Given the description of an element on the screen output the (x, y) to click on. 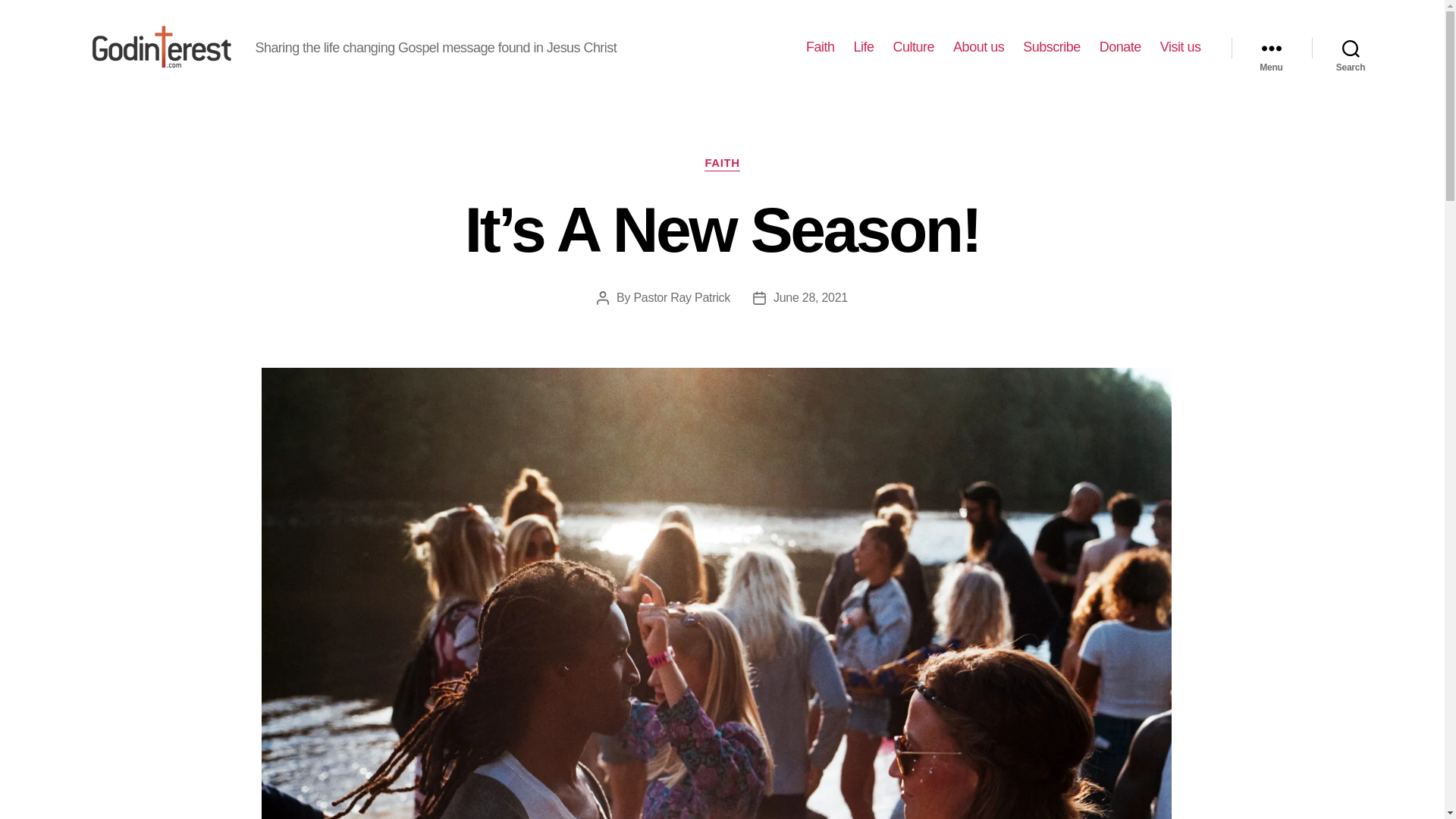
Faith (820, 47)
Donate (1120, 47)
Culture (913, 47)
Life (864, 47)
Search (1350, 47)
Pastor Ray Patrick (681, 297)
Menu (1271, 47)
FAITH (721, 163)
Visit us (1180, 47)
Subscribe (1051, 47)
